Given the description of an element on the screen output the (x, y) to click on. 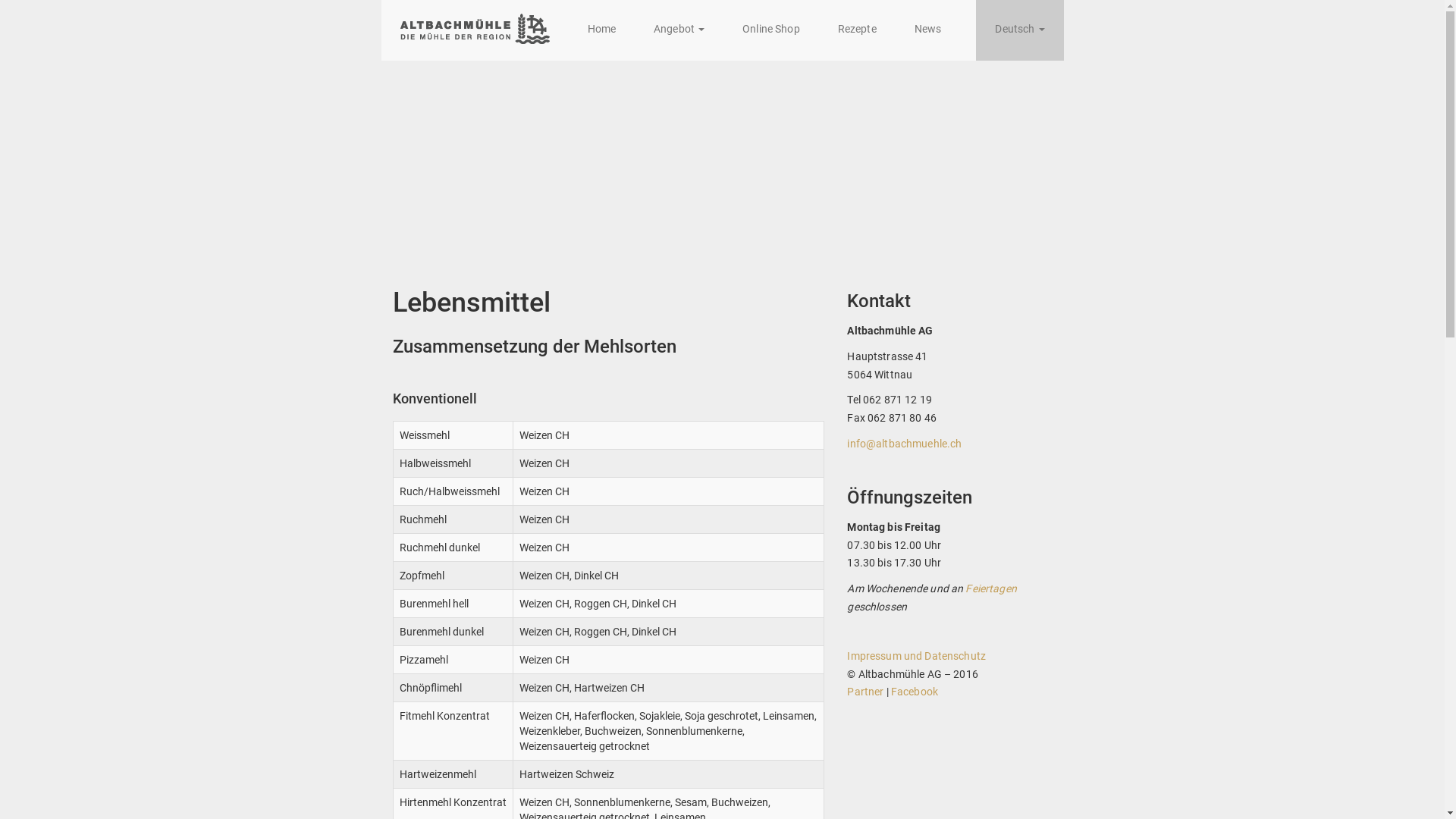
Angebot Element type: text (678, 30)
info@altbachmuehle.ch Element type: text (904, 443)
Deutsch Element type: text (1019, 30)
Feiertagen Element type: text (990, 588)
Online Shop Element type: text (771, 30)
Home Element type: text (601, 30)
News Element type: text (927, 30)
Facebook Element type: text (914, 691)
Rezepte Element type: text (857, 30)
Impressum und Datenschutz Element type: text (916, 655)
Partner Element type: text (865, 691)
